Given the description of an element on the screen output the (x, y) to click on. 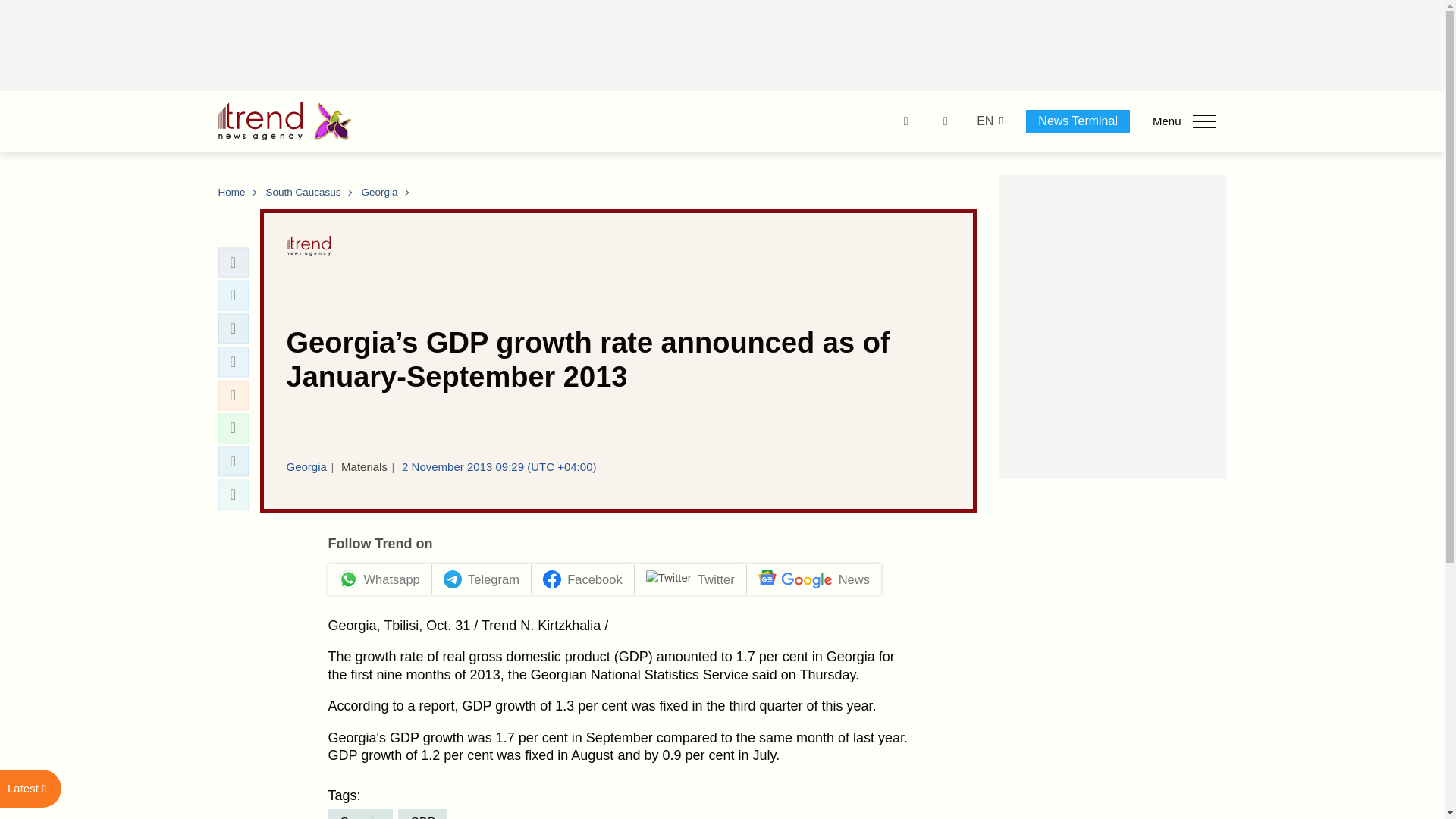
EN (984, 121)
News Terminal (1077, 120)
English (984, 121)
